Given the description of an element on the screen output the (x, y) to click on. 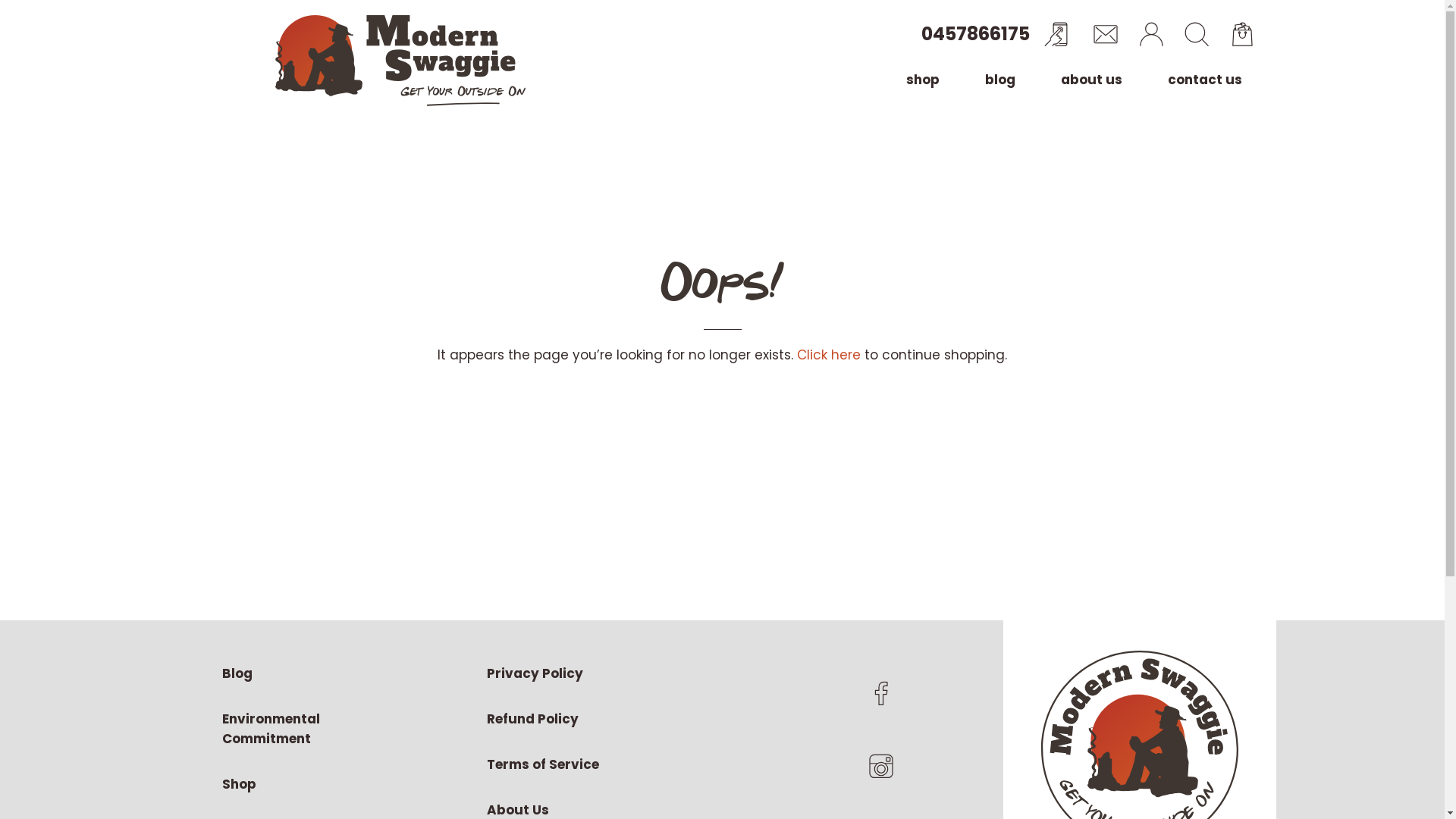
Blog Element type: text (304, 673)
Cart Element type: text (1241, 33)
Instagram Element type: text (880, 765)
Terms of Service Element type: text (570, 764)
Log In Element type: text (1150, 33)
Click here Element type: text (828, 354)
Privacy Policy Element type: text (570, 673)
shop Element type: text (921, 79)
Search Element type: text (1196, 33)
Refund Policy Element type: text (570, 718)
Environmental Commitment Element type: text (304, 728)
Contact Element type: text (1105, 33)
contact us Element type: text (1204, 79)
0457866175 Element type: text (994, 33)
about us Element type: text (1090, 79)
Facebook Element type: text (880, 692)
blog Element type: text (999, 79)
Shop Element type: text (304, 783)
